Given the description of an element on the screen output the (x, y) to click on. 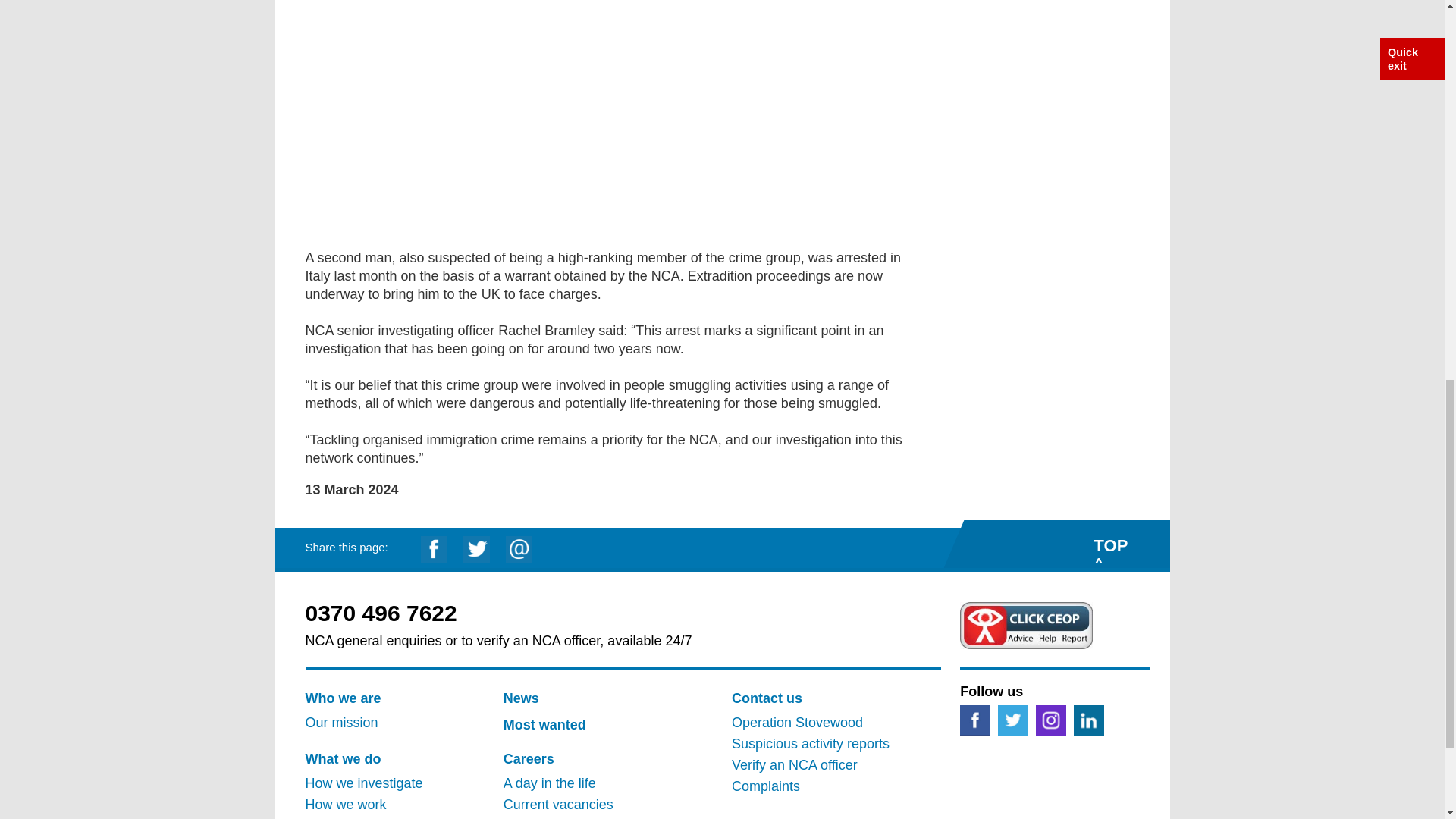
Instagram (1050, 719)
Twitter (1012, 719)
Facebook (974, 719)
LinkedIn (1088, 719)
